Given the description of an element on the screen output the (x, y) to click on. 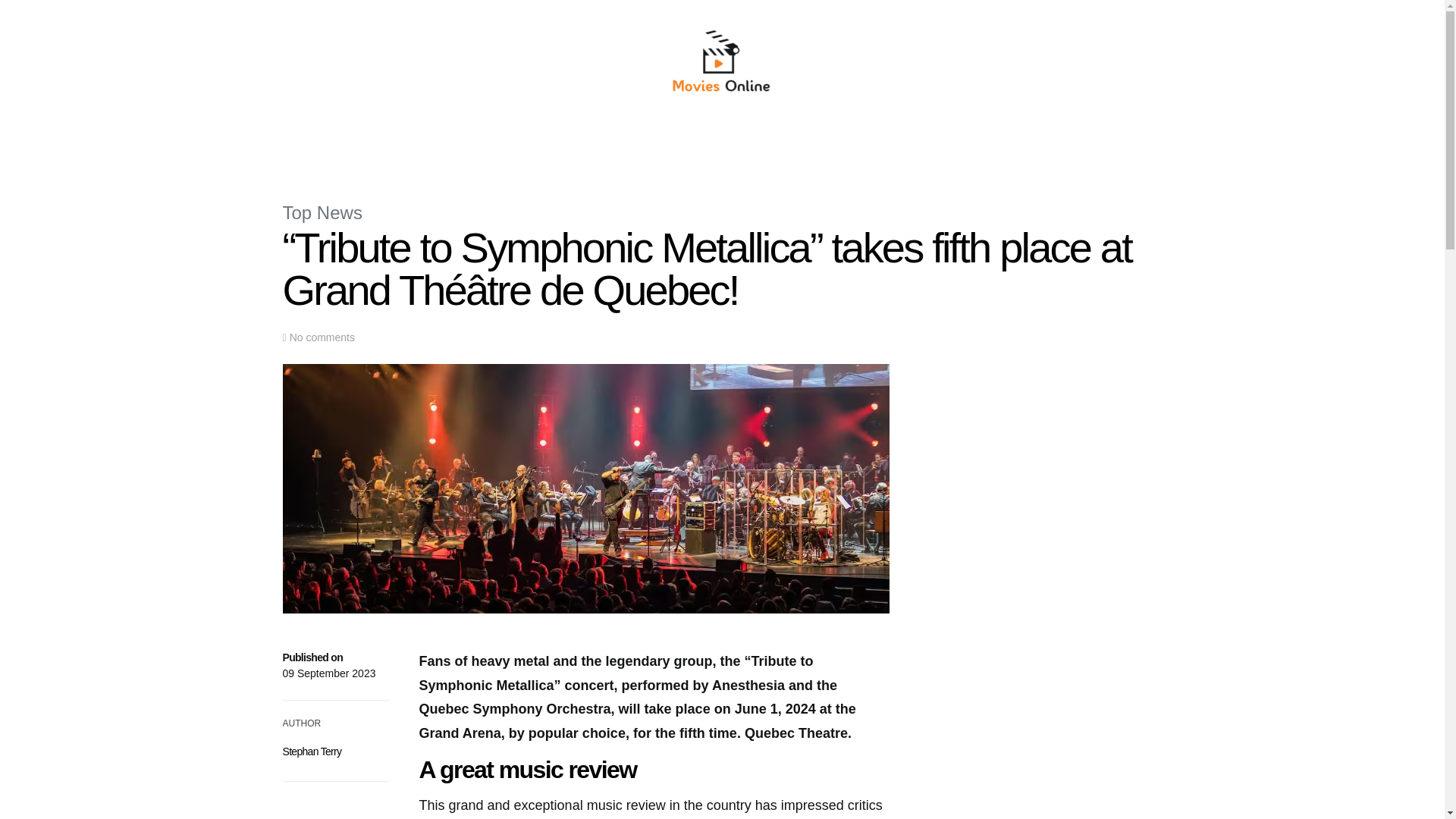
ECONOMY (610, 145)
Top News (321, 212)
Stephan Terry (311, 751)
SCIENCE (671, 145)
SPORT (762, 145)
WORLD (553, 145)
ENTERTAINMENT (834, 145)
No comments (322, 337)
CONTACT FORM (926, 145)
TOP NEWS (495, 145)
